Given the description of an element on the screen output the (x, y) to click on. 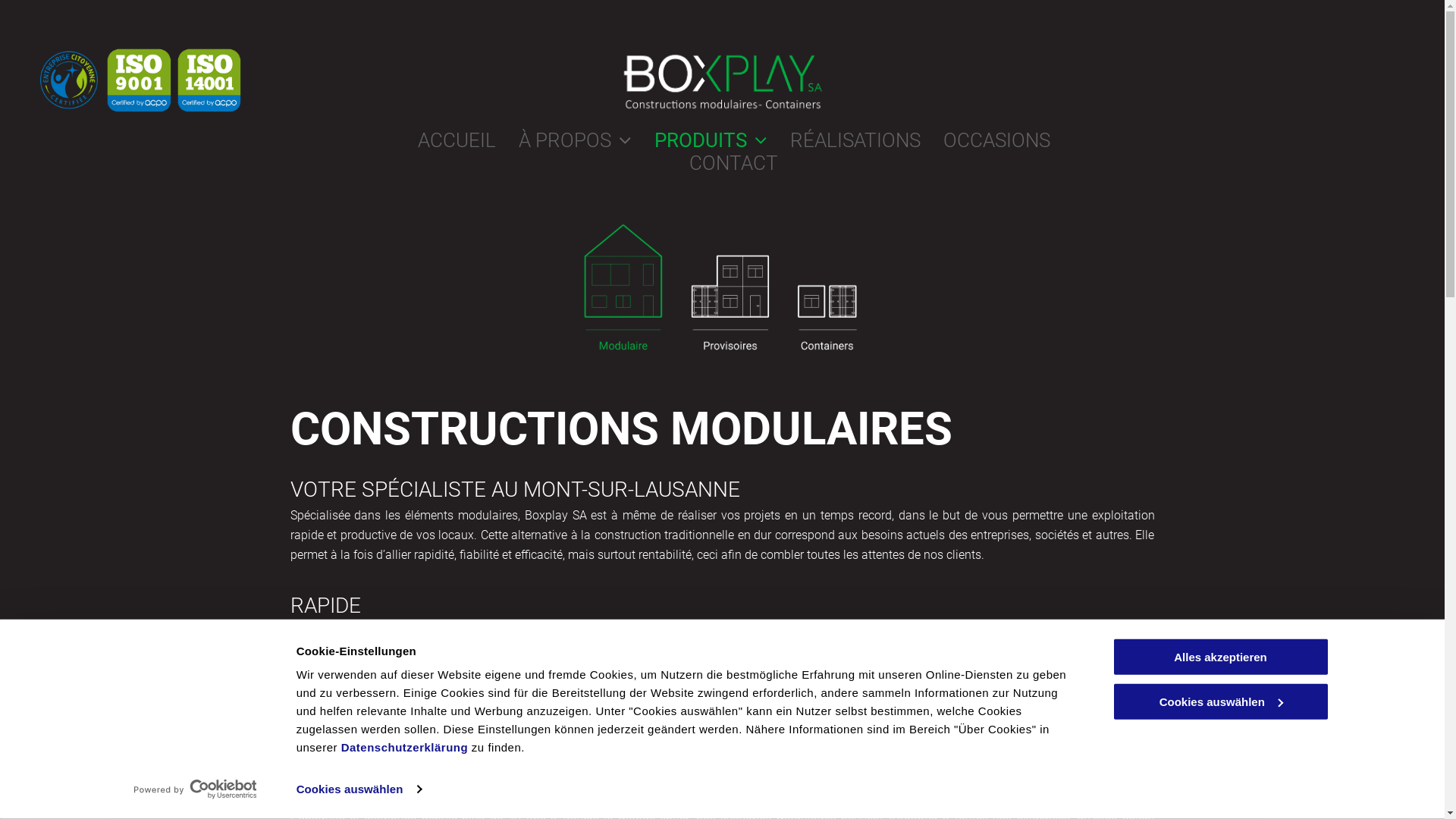
PRODUITS Element type: text (698, 139)
OCCASIONS Element type: text (985, 139)
ACCUEIL Element type: text (444, 139)
Alles akzeptieren Element type: text (1219, 656)
CONTACT Element type: text (722, 162)
